Given the description of an element on the screen output the (x, y) to click on. 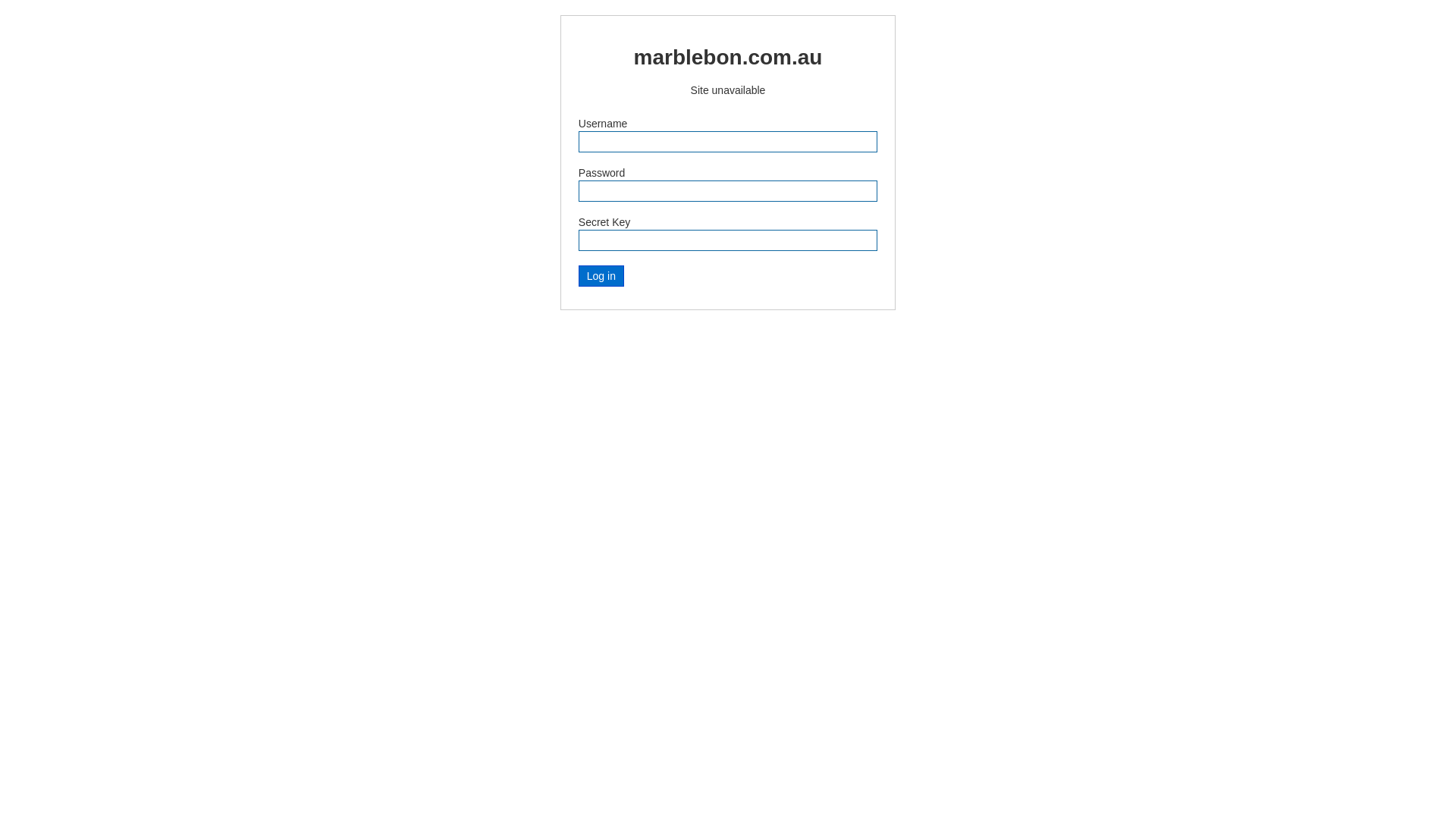
Log in Element type: text (601, 275)
